Given the description of an element on the screen output the (x, y) to click on. 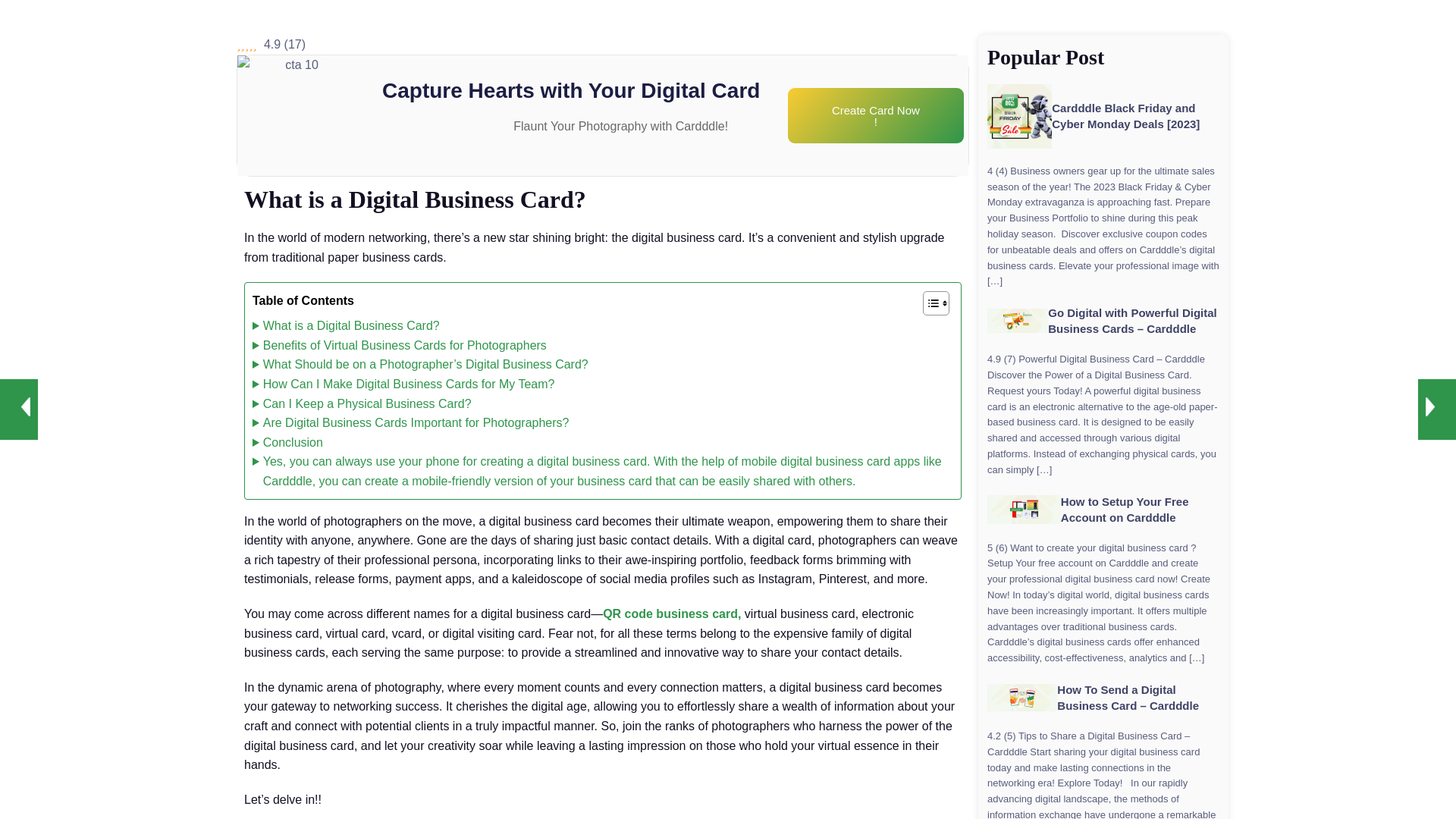
Conclusion (287, 442)
What is a Digital Business Card? (345, 325)
Are Digital Business Cards Important for Photographers? (410, 423)
QR code business card, (671, 613)
Benefits of Virtual Business Cards for Photographers (399, 345)
Are Digital Business Cards Important for Photographers? (410, 423)
How Can I Make Digital Business Cards for My Team? (402, 383)
How Can I Make Digital Business Cards for My Team? (402, 383)
